Given the description of an element on the screen output the (x, y) to click on. 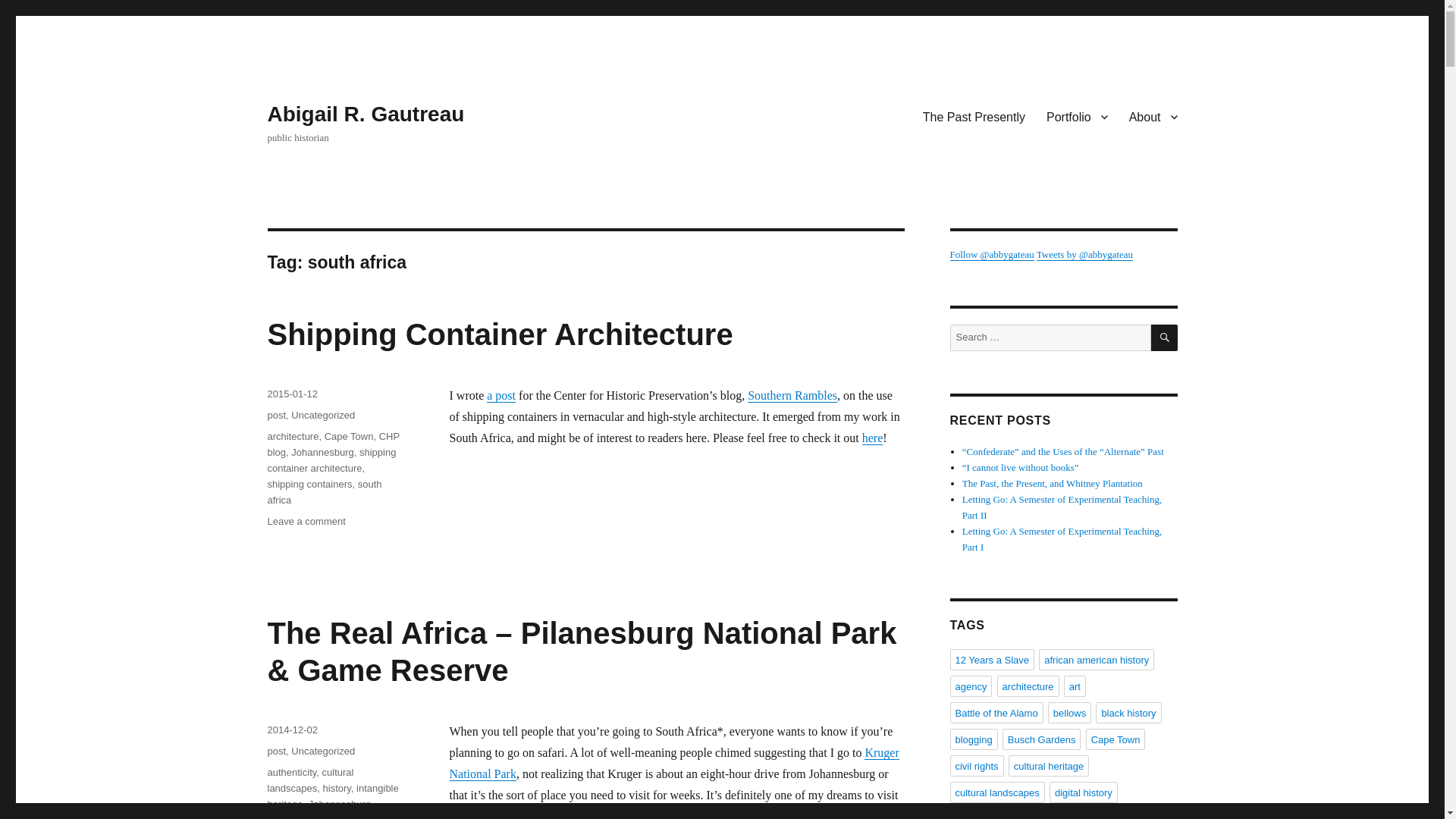
architecture (292, 436)
The Past Presently (973, 116)
Cape Town (349, 436)
Uncategorized (323, 414)
Shipping Container Architecture (499, 334)
Abigail R. Gautreau (365, 114)
Southern Rambles (792, 395)
shipping containers (309, 483)
CHP blog (332, 443)
About (1153, 116)
south africa (323, 492)
shipping container architecture (331, 460)
Kruger National Park (673, 763)
here (872, 437)
a post (500, 395)
